Given the description of an element on the screen output the (x, y) to click on. 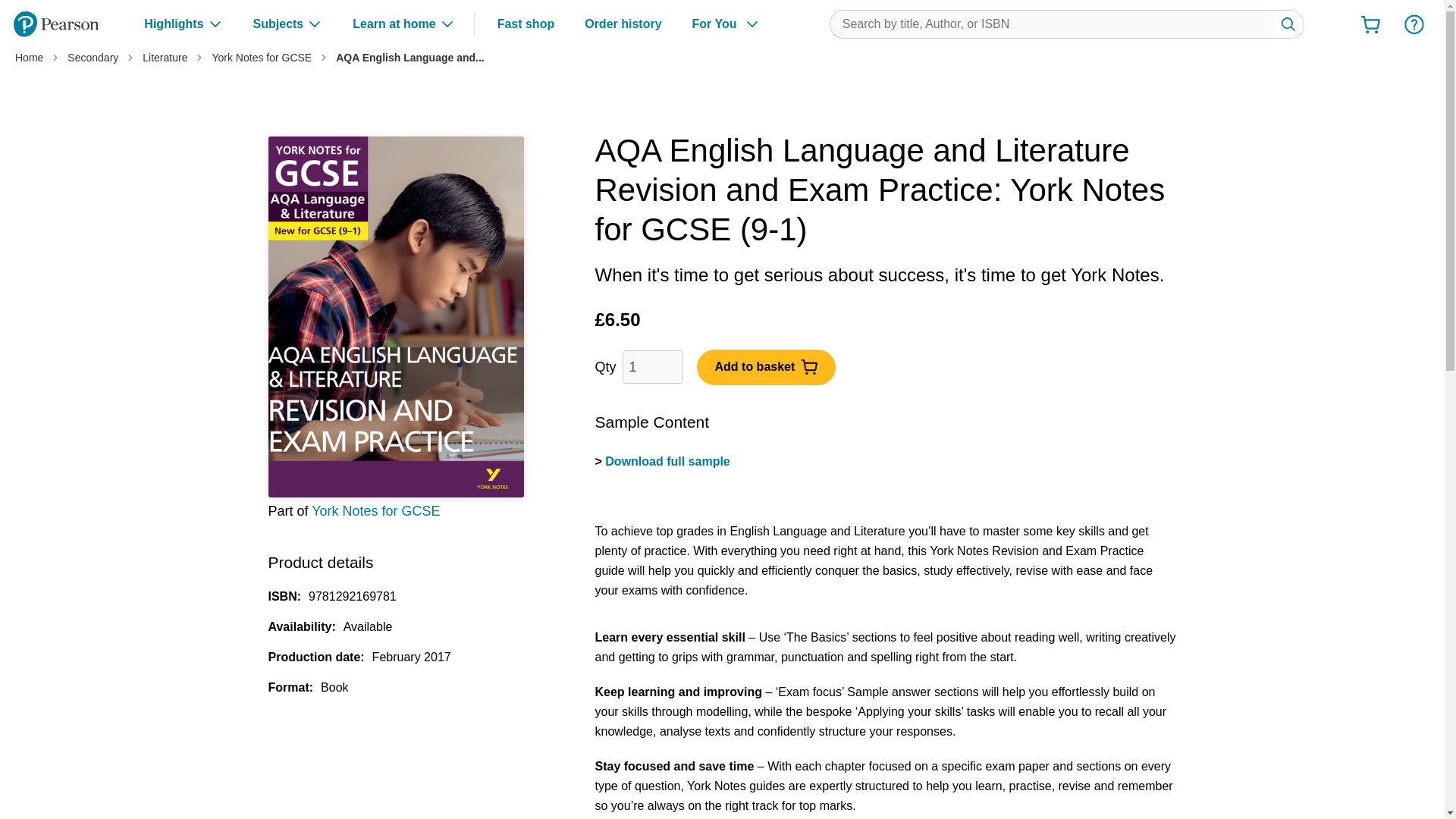
Home (28, 57)
Order history (623, 24)
York Notes for GCSE (375, 510)
Add to basket (766, 366)
For You (725, 24)
Fast shop (525, 24)
Search by title, Author, or ISBN (1287, 23)
Secondary (91, 57)
Download full sample (667, 461)
Literature (164, 57)
York Notes for GCSE (261, 57)
Search by title, Author, or ISBN (1287, 23)
Search by title, Author, or ISBN (1066, 23)
1 (652, 367)
